Given the description of an element on the screen output the (x, y) to click on. 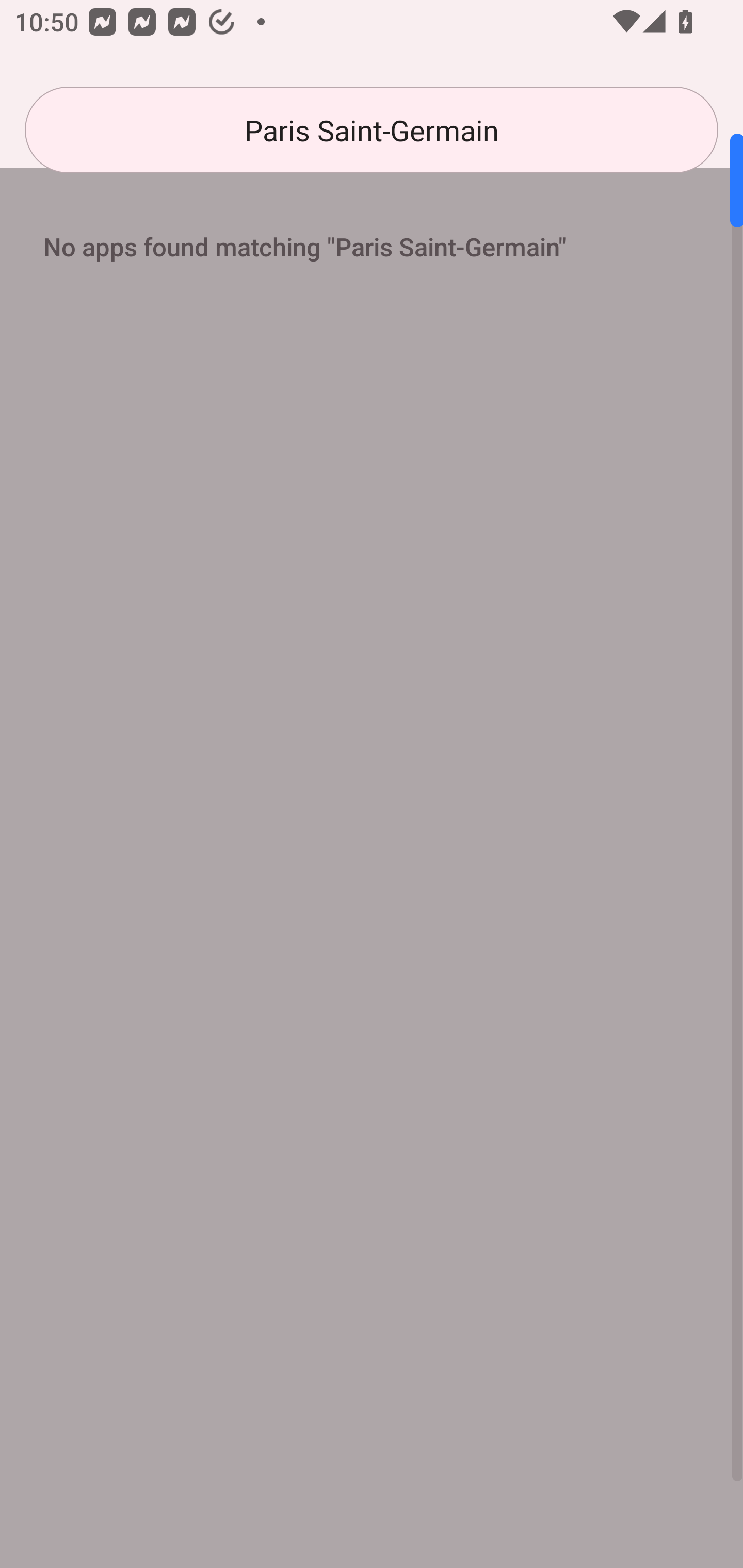
Paris Saint-Germain (371, 130)
